Given the description of an element on the screen output the (x, y) to click on. 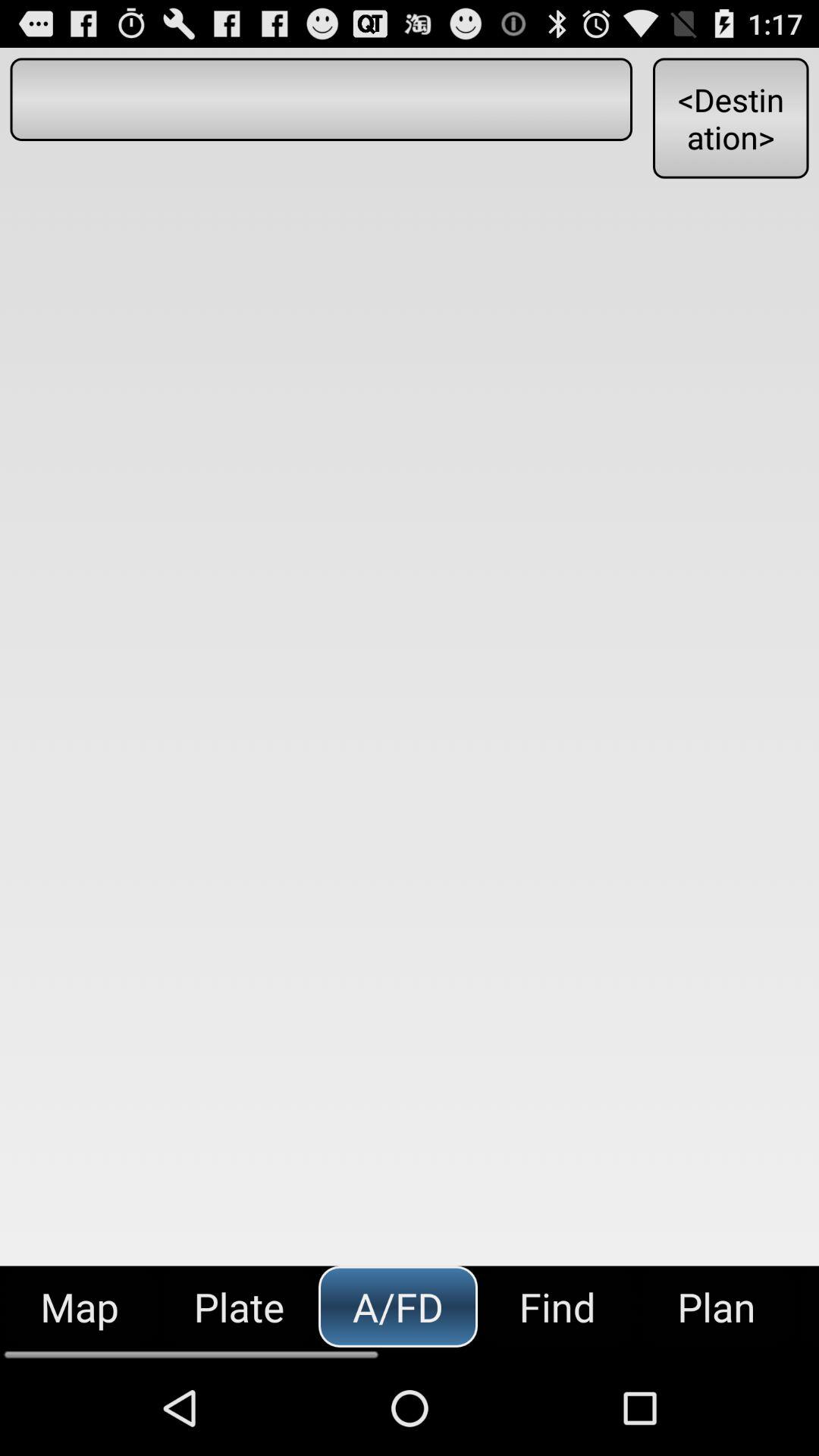
launch the item above the map (321, 99)
